Given the description of an element on the screen output the (x, y) to click on. 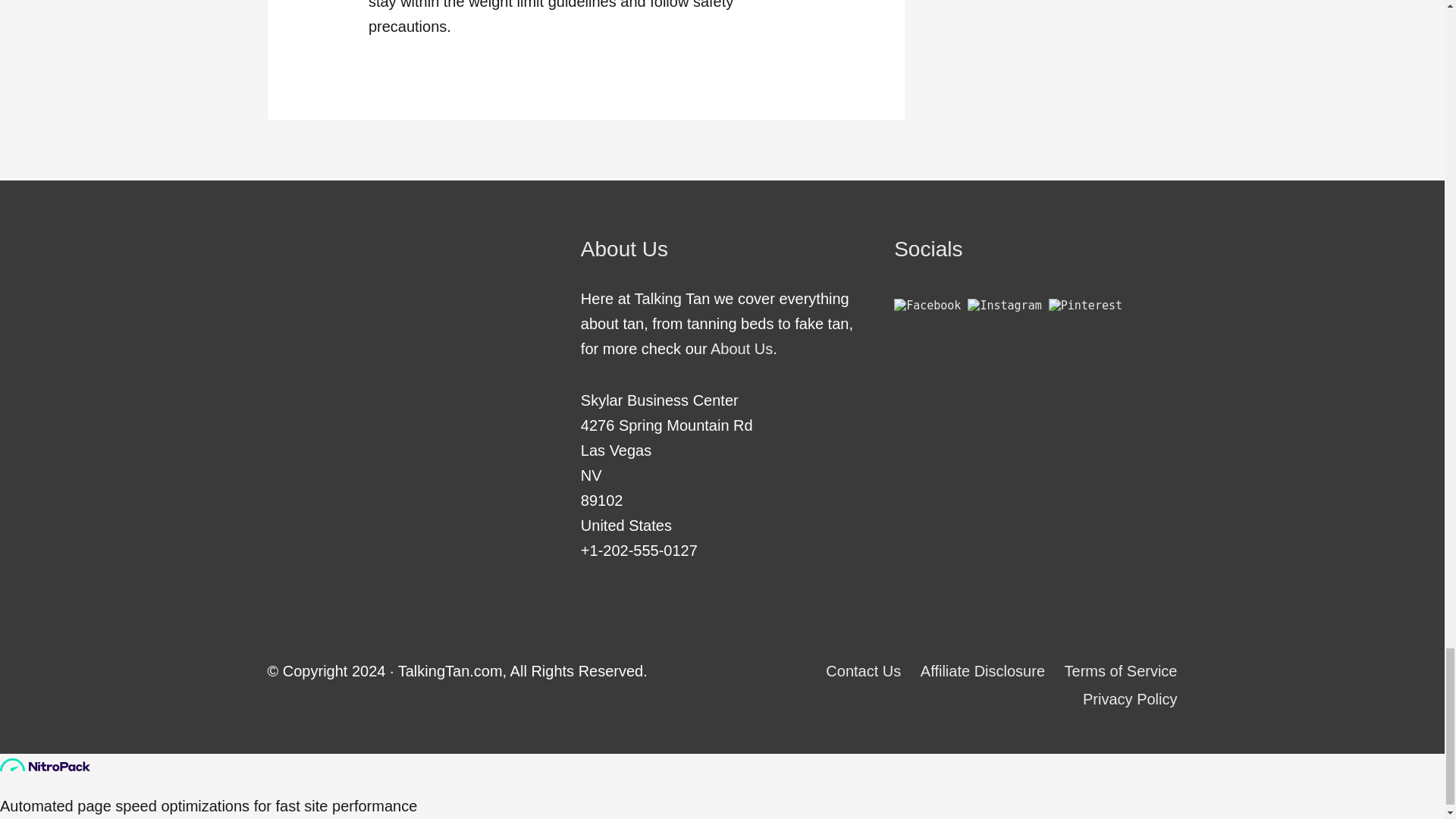
Terms of Service (1113, 670)
Contact Us (855, 670)
About Us (741, 348)
Pinterest (1085, 305)
Privacy Policy (1121, 699)
Instagram (1004, 305)
Affiliate Disclosure (975, 670)
Facebook (926, 305)
